Given the description of an element on the screen output the (x, y) to click on. 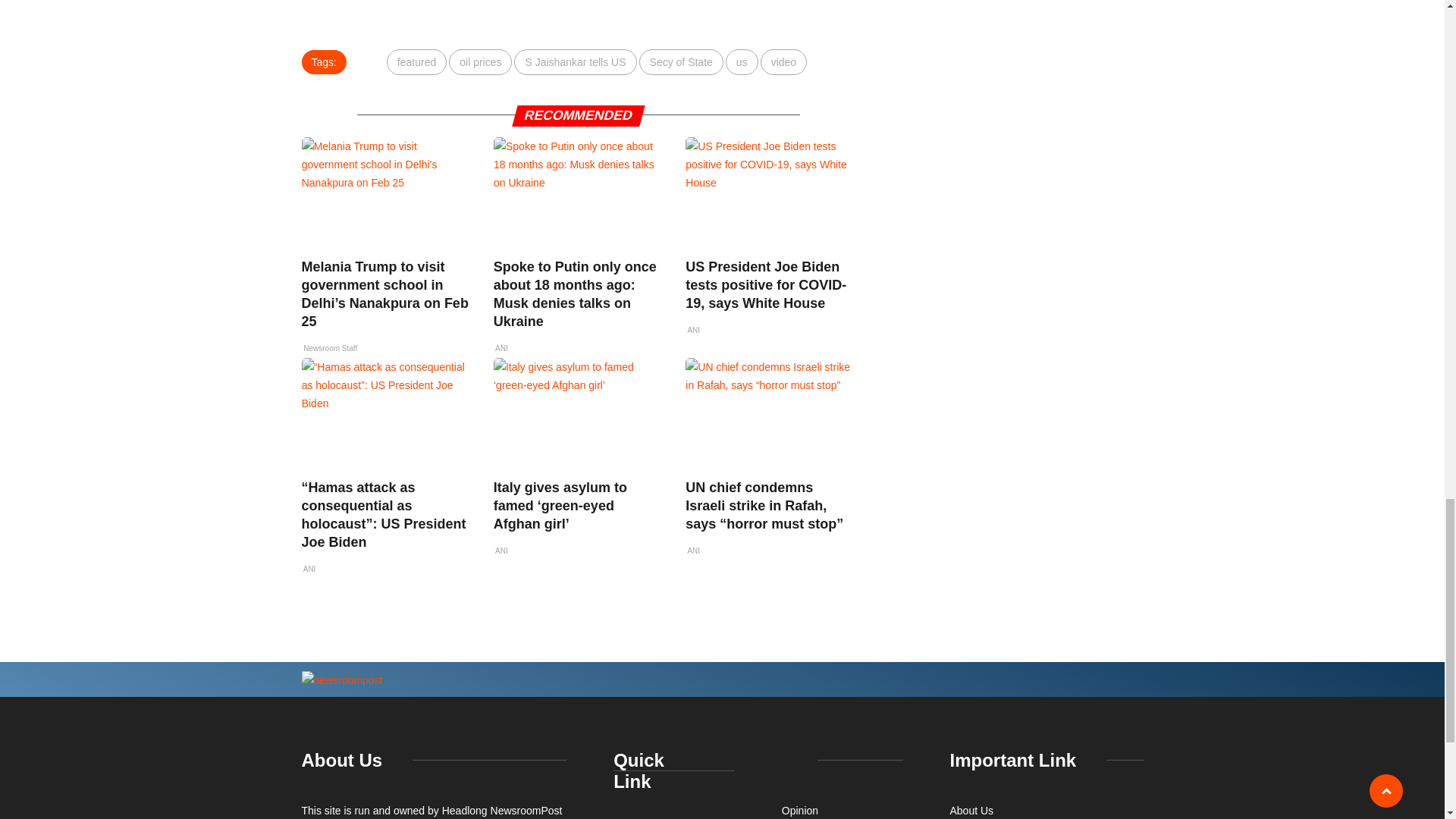
Secy of State (681, 62)
S Jaishankar tells US (574, 62)
video (783, 62)
featured (416, 62)
oil prices (480, 62)
us (741, 62)
